Given the description of an element on the screen output the (x, y) to click on. 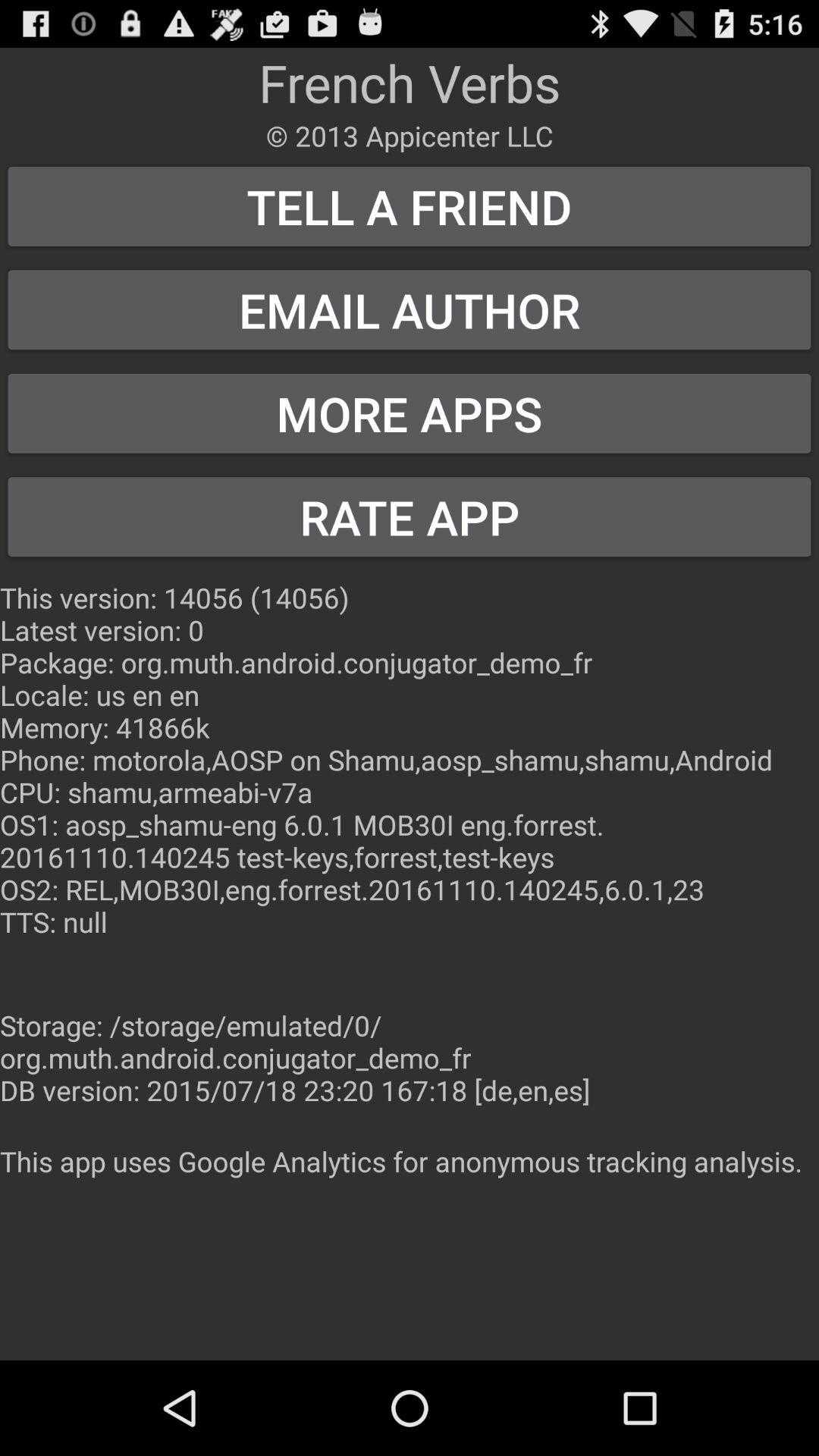
swipe to more apps (409, 413)
